Given the description of an element on the screen output the (x, y) to click on. 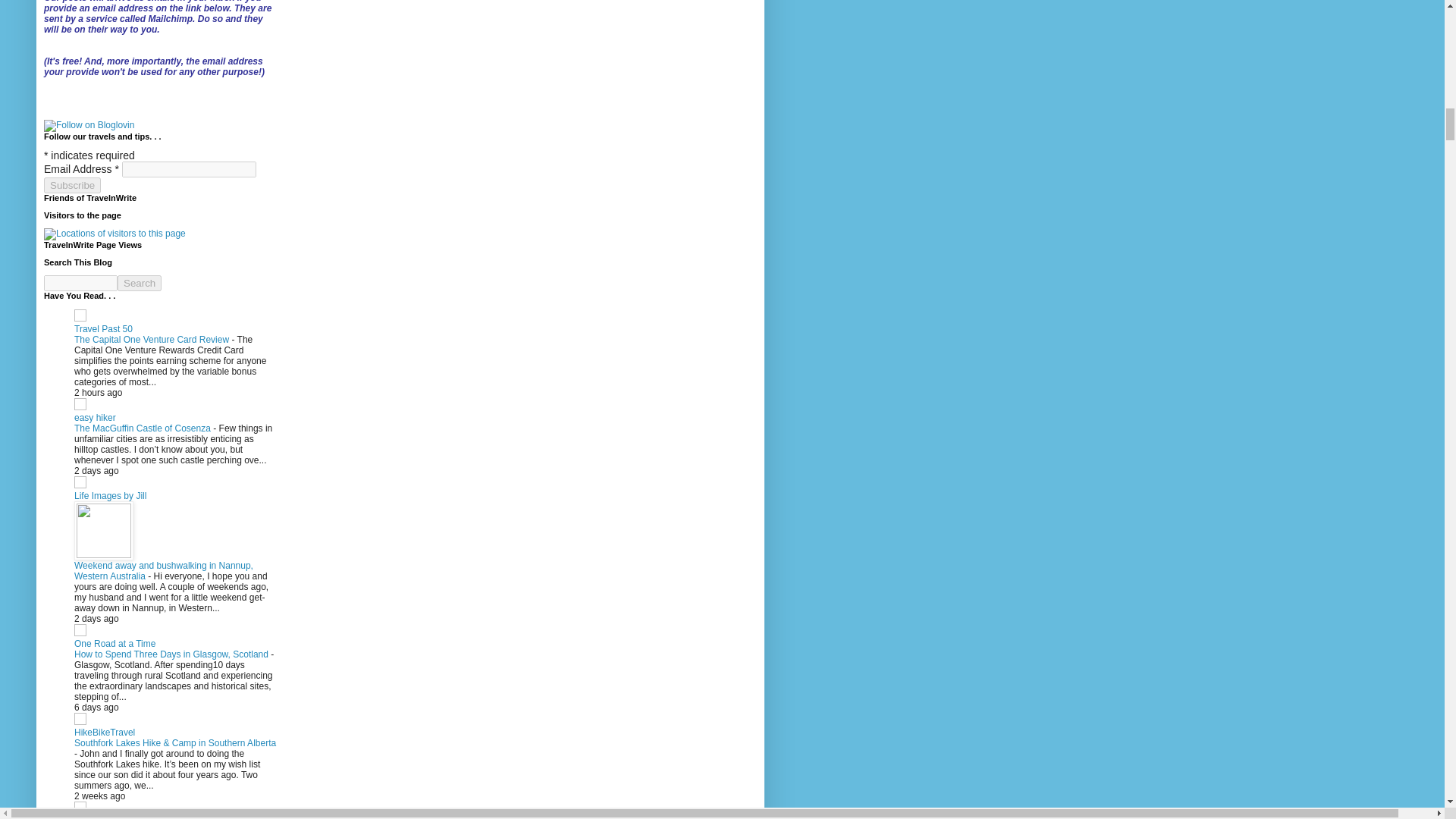
Subscribe (71, 185)
Search (139, 283)
Search (139, 283)
